Given the description of an element on the screen output the (x, y) to click on. 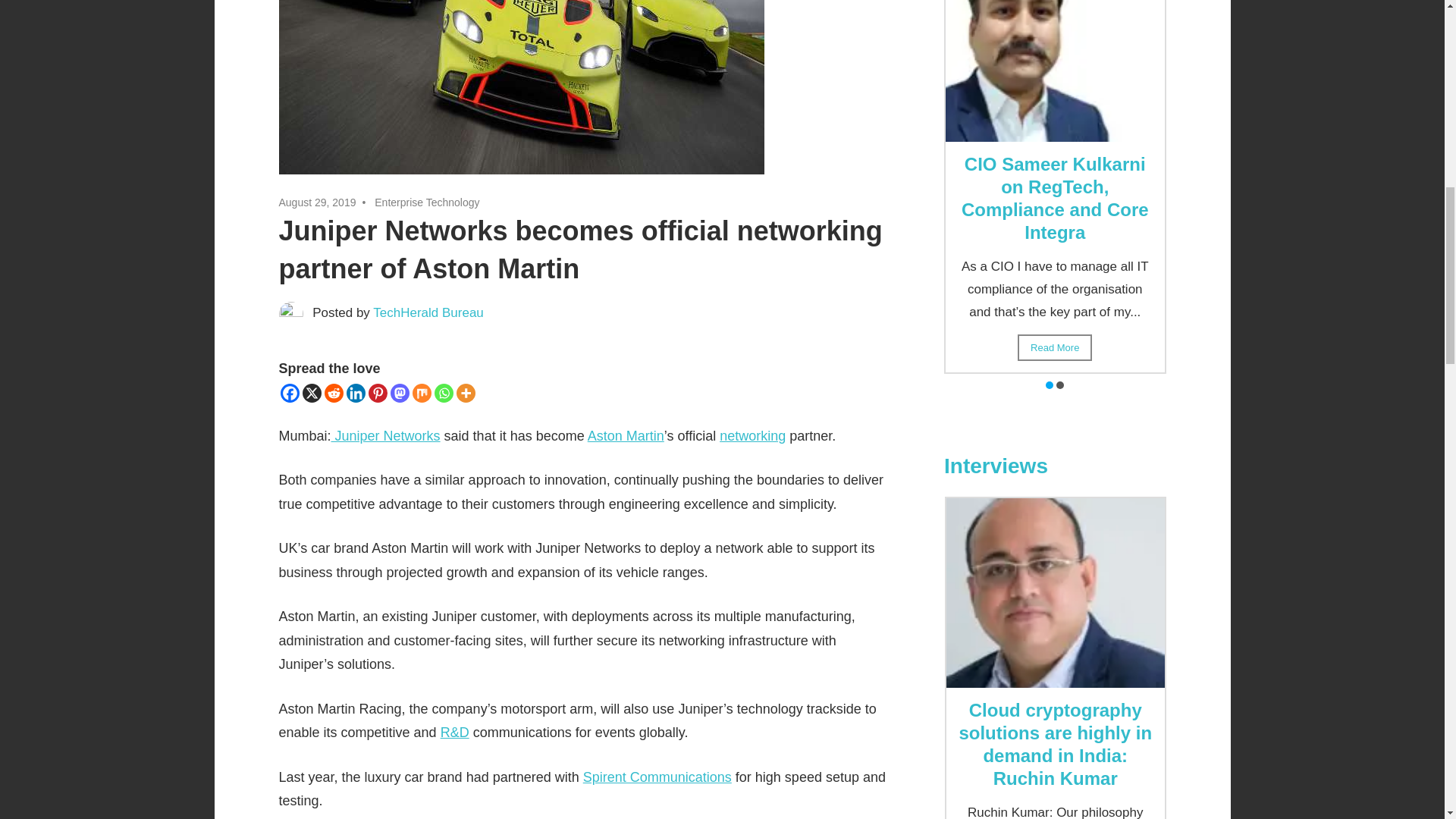
3:06 pm (317, 202)
View all posts by TechHerald Bureau (427, 312)
Juniper Networks (386, 435)
August 29, 2019 (317, 202)
Facebook (290, 393)
Whatsapp (442, 393)
TechHerald Bureau (427, 312)
Reddit (333, 393)
Pinterest (377, 393)
More (466, 393)
Mix (421, 393)
Linkedin (355, 393)
Spirent Communications (657, 776)
Aston Martin (625, 435)
Enterprise Technology (426, 202)
